Given the description of an element on the screen output the (x, y) to click on. 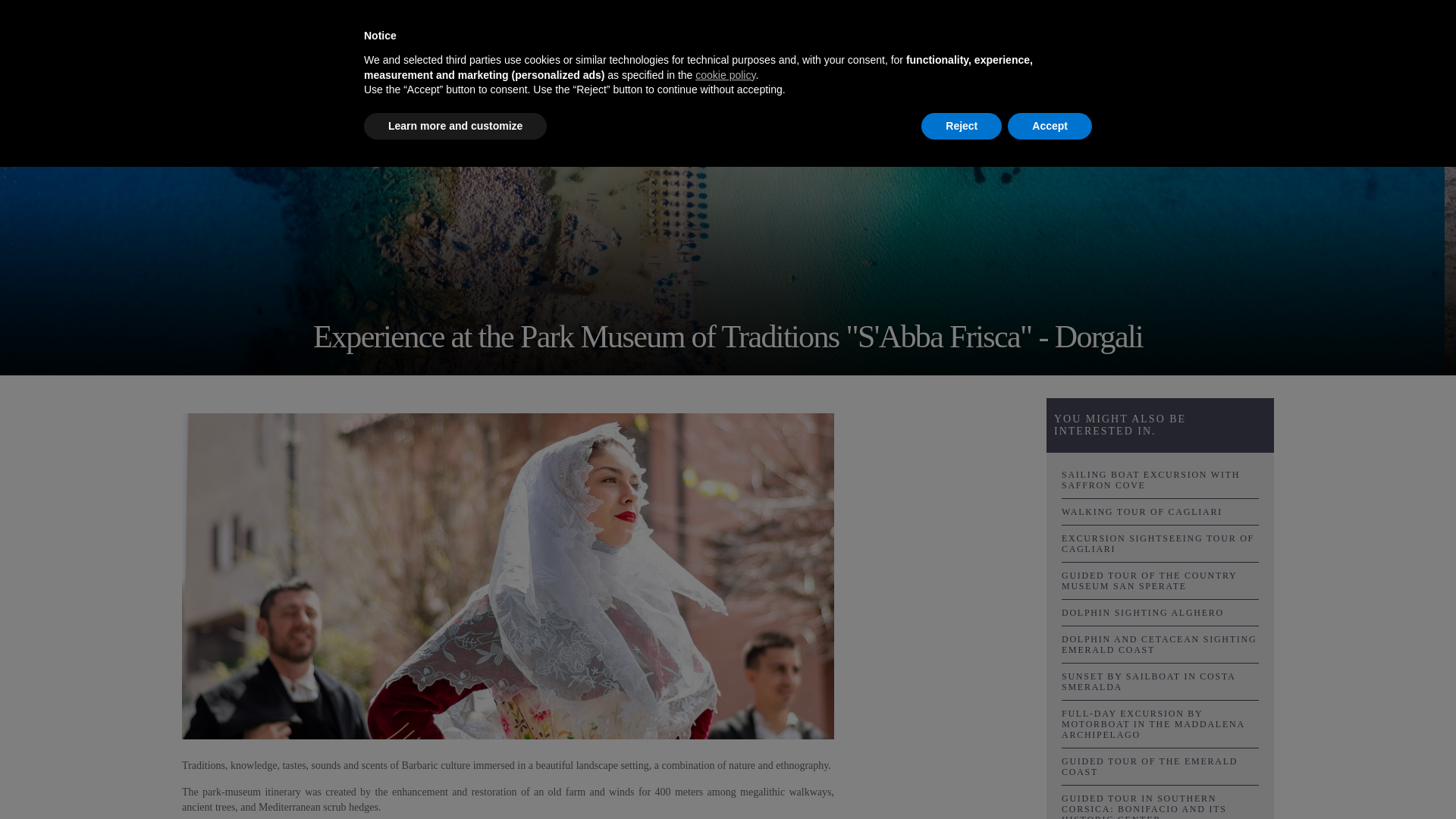
DOLPHIN SIGHTING ALGHERO (1160, 612)
EXCURSION SIGHTSEEING TOUR OF CAGLIARI (1160, 543)
WALKING TOUR OF CAGLIARI (1160, 511)
GUIDED TOUR OF THE EMERALD COAST (1160, 766)
SUNSET BY SAILBOAT IN COSTA SMERALDA (1160, 681)
SAILING BOAT EXCURSION WITH SAFFRON COVE (1160, 479)
AGENCY AREA (1404, 32)
DOLPHIN AND CETACEAN SIGHTING EMERALD COAST (1160, 644)
GUIDED TOUR OF THE COUNTRY MUSEUM SAN SPERATE (1160, 580)
LOGIN (1323, 32)
FULL-DAY EXCURSION BY MOTORBOAT IN THE MADDALENA ARCHIPELAGO (1160, 724)
